Given the description of an element on the screen output the (x, y) to click on. 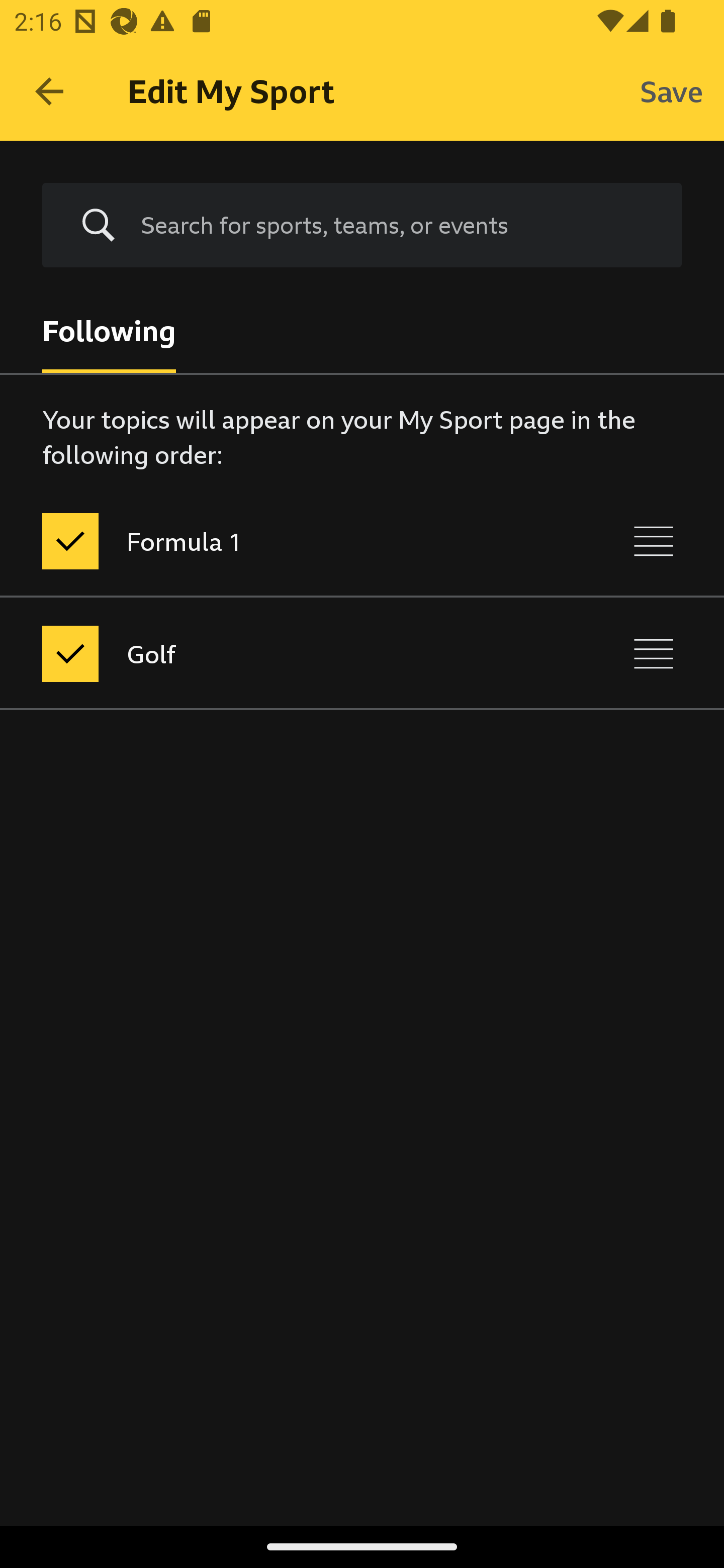
Navigate up (49, 91)
Save (671, 90)
Search for sports, teams, or events (361, 225)
Search for sports, teams, or events (396, 224)
Formula 1 (277, 540)
Reorder Formula 1 (653, 540)
Golf (277, 653)
Reorder Golf (653, 653)
